Given the description of an element on the screen output the (x, y) to click on. 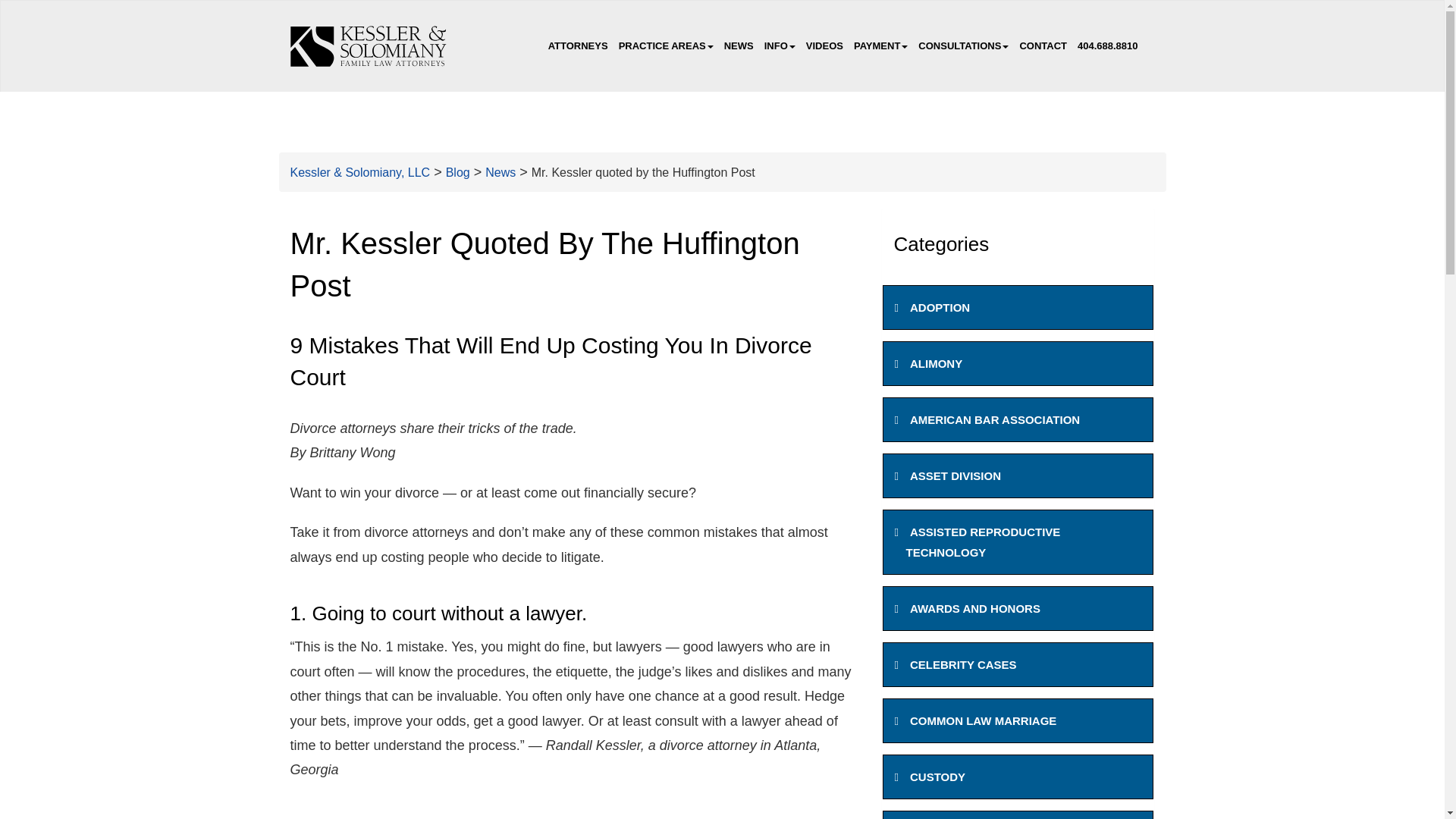
PRACTICE AREAS (665, 46)
Go to the News Category archives. (499, 172)
NEWS (738, 46)
INFO (779, 46)
VIDEOS (824, 46)
Go to Blog. (457, 172)
ATTORNEYS (577, 46)
PAYMENT (880, 46)
